Given the description of an element on the screen output the (x, y) to click on. 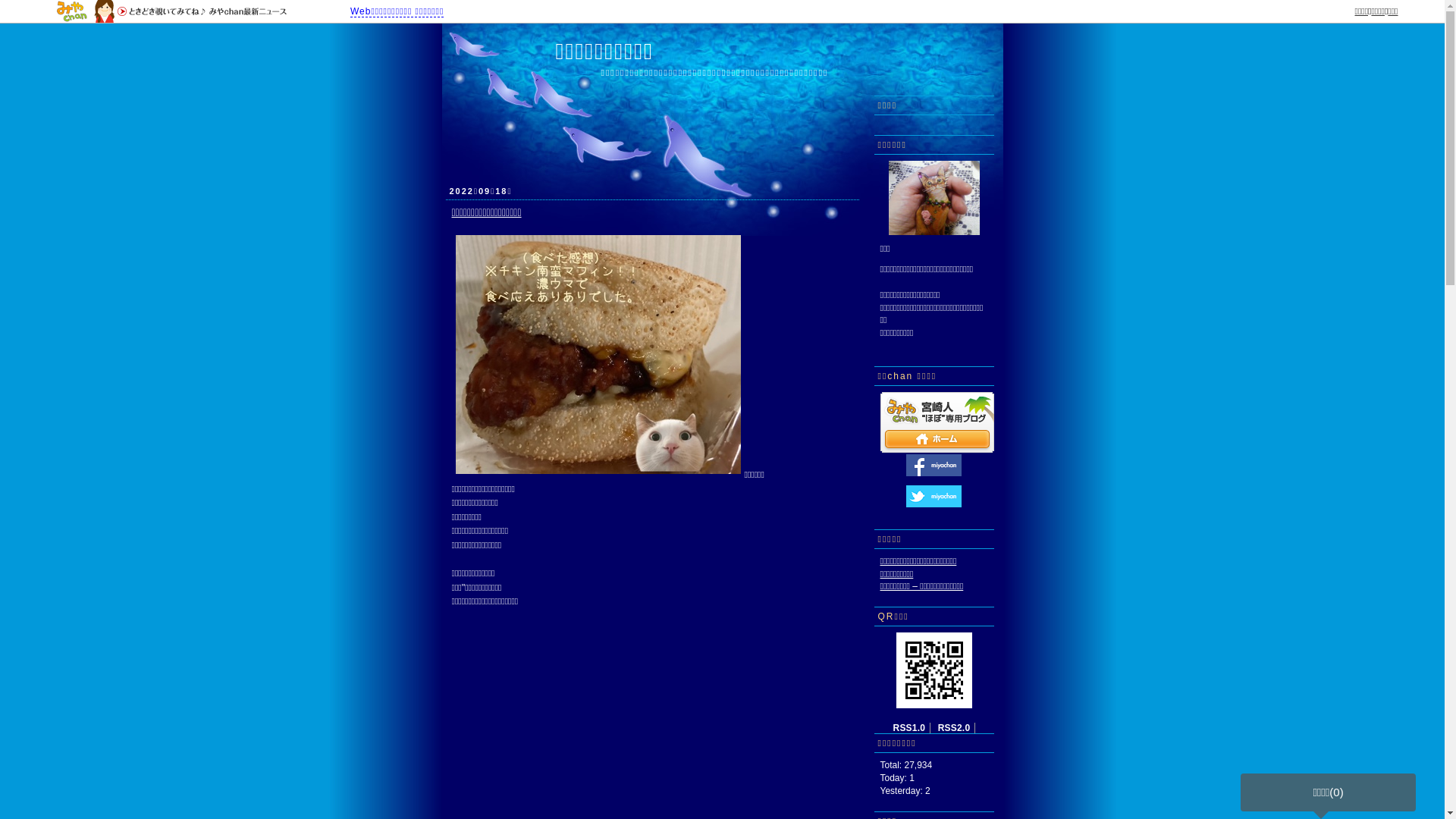
RSS2.0 Element type: text (954, 727)
RSS1.0 Element type: text (909, 727)
